Given the description of an element on the screen output the (x, y) to click on. 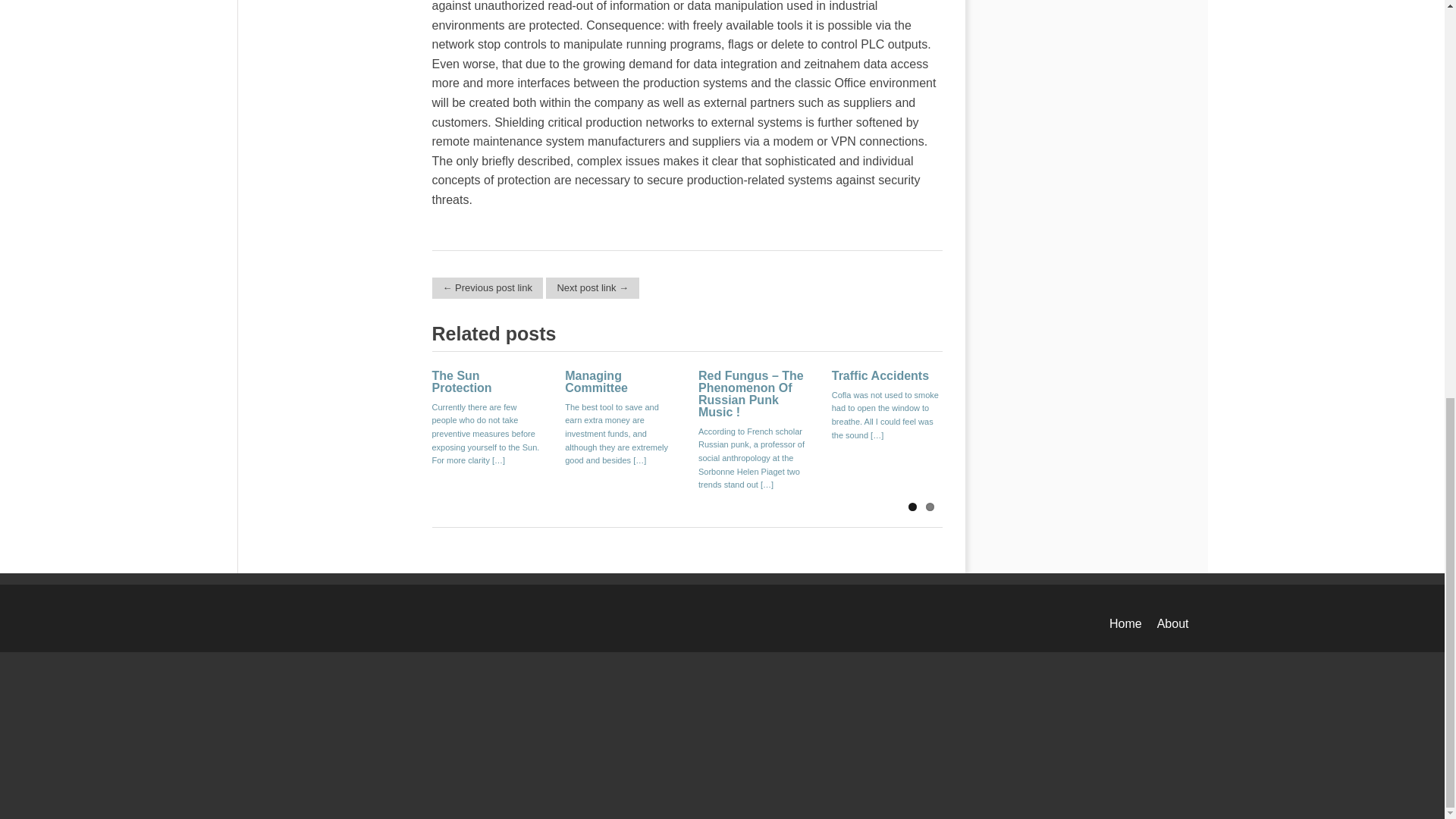
1 (912, 506)
Home (1125, 623)
Managing Committee (595, 381)
Go to: Social Networks (592, 287)
The Sun Protection (462, 381)
2 (928, 506)
Go to: Network Safe Home Germany (487, 287)
Traffic Accidents (879, 375)
About (1173, 623)
